Given the description of an element on the screen output the (x, y) to click on. 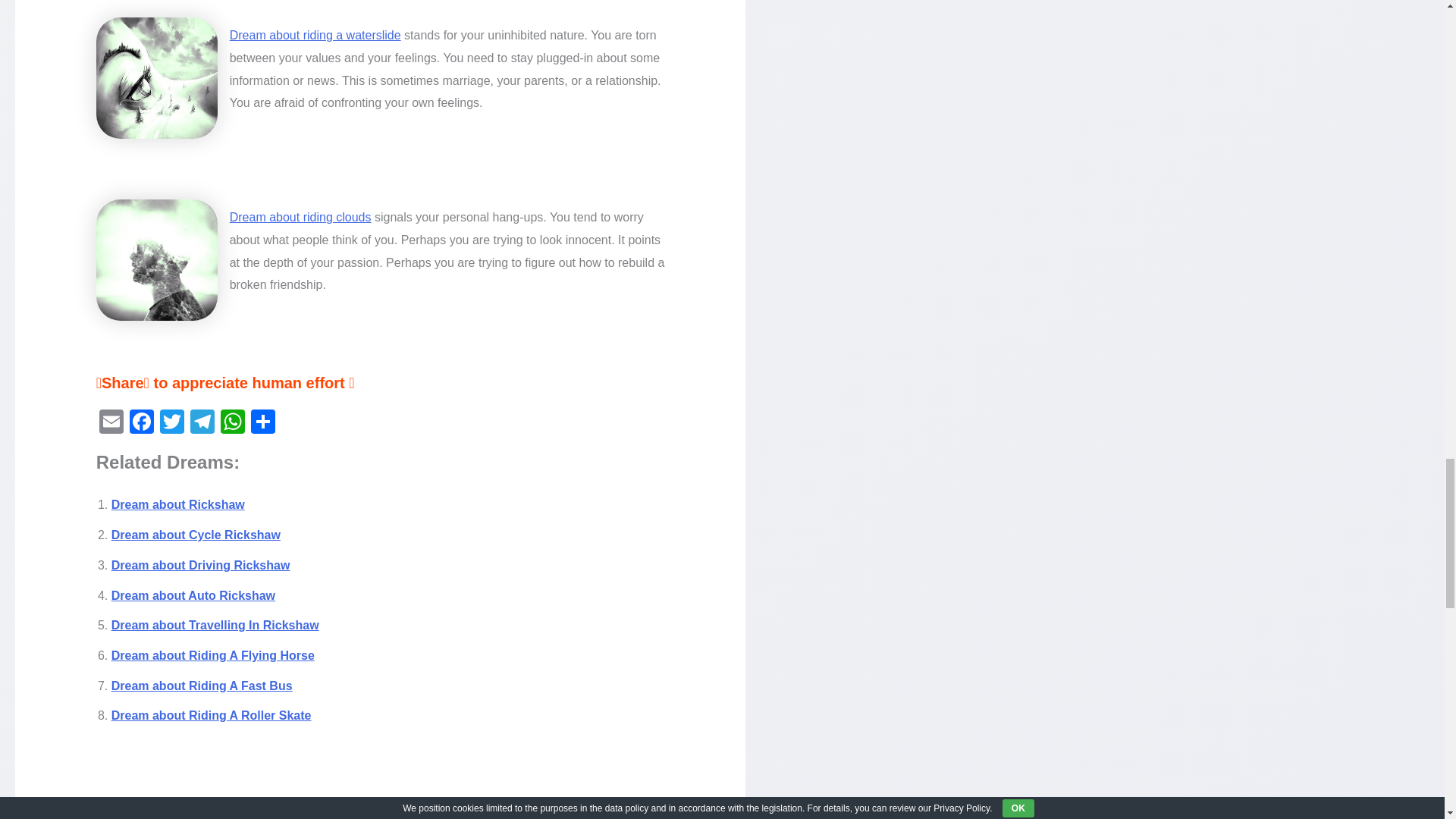
Email (111, 423)
Telegram (201, 423)
Facebook (141, 423)
Dream about Riding A Flying Horse (213, 655)
WhatsApp (231, 423)
Dream about Auto Rickshaw (193, 594)
Dream about Riding A Flying Horse (213, 655)
Telegram (201, 423)
Dream about Cycle Rickshaw (196, 534)
Email (111, 423)
Twitter (172, 423)
Dream about riding clouds (300, 216)
Dream about Driving Rickshaw (200, 564)
Dream about Travelling In Rickshaw (215, 625)
Dream about Travelling In Rickshaw (215, 625)
